Given the description of an element on the screen output the (x, y) to click on. 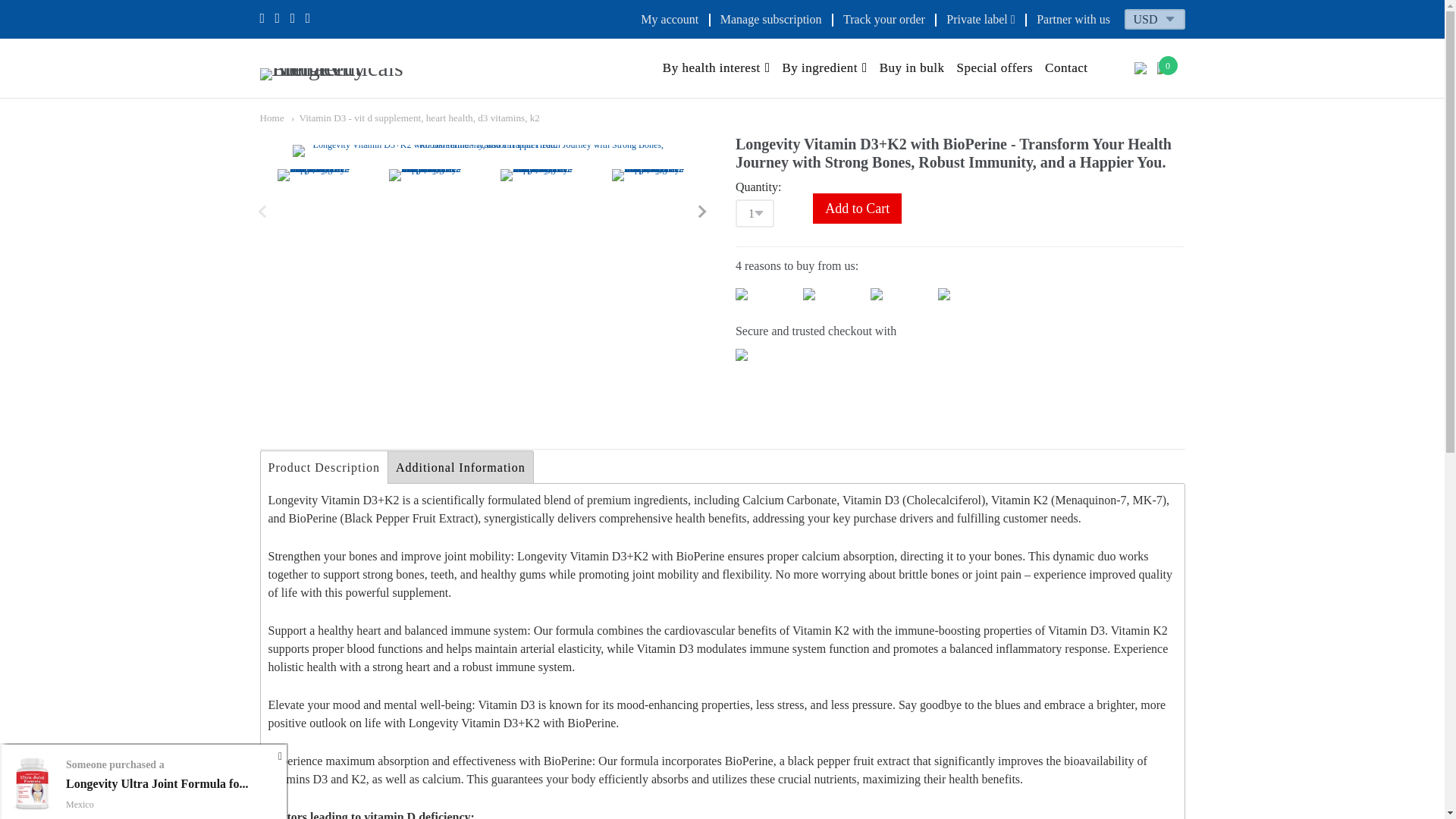
Track your order (883, 19)
Longevity Ultra Joint Formula fo... (156, 783)
By health interest (716, 68)
Longevity Premier Nutraceuticals Inc (346, 67)
My account (669, 19)
Vitamin D3 - vit d supplement, heart health, d3 vitamins, k2 (415, 117)
Manage subscription (771, 19)
Private label (980, 19)
Partner with us (1072, 19)
Home (271, 117)
